Given the description of an element on the screen output the (x, y) to click on. 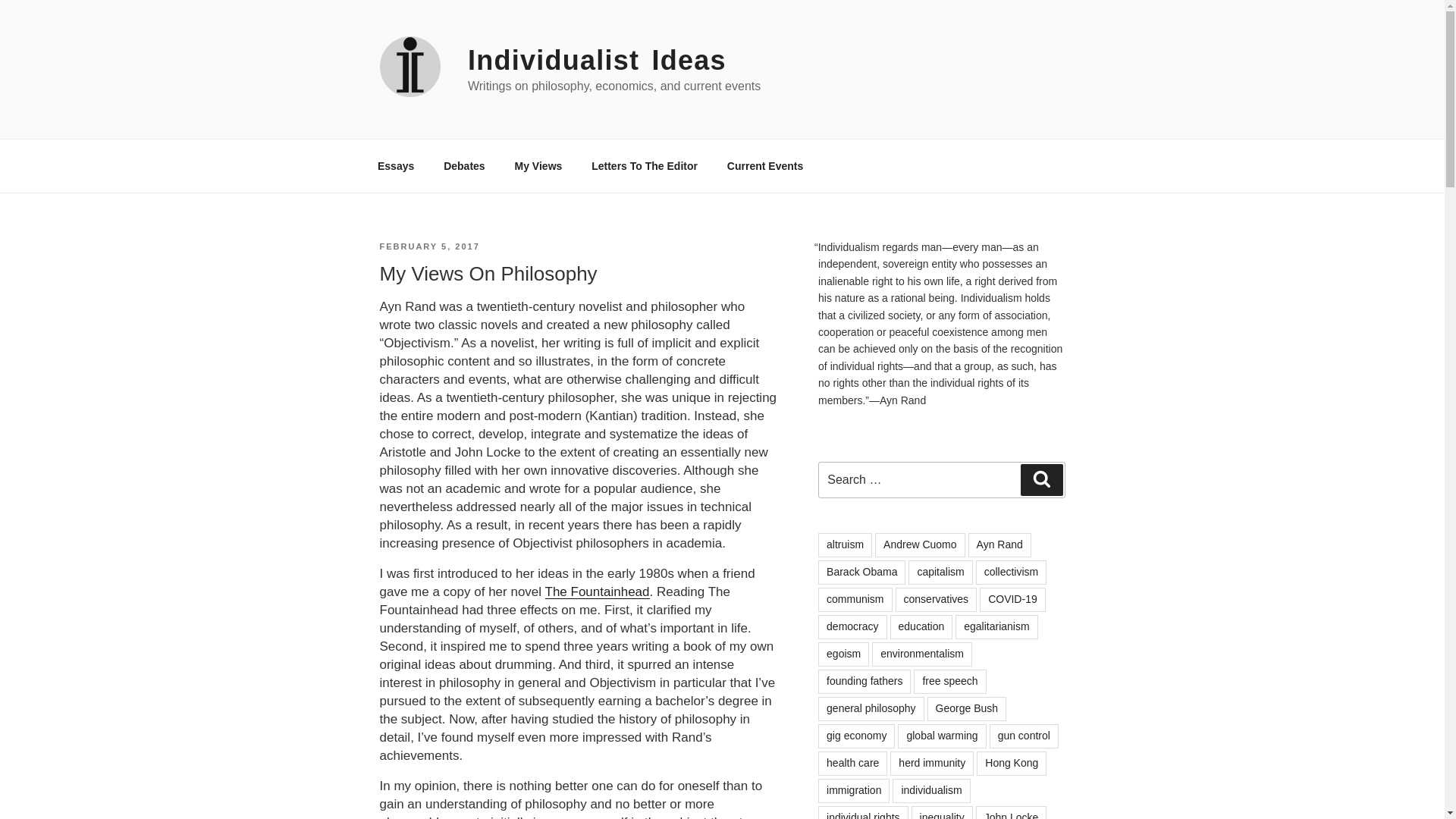
The Fountainhead (596, 590)
Individualist Ideas (596, 60)
Essays (395, 165)
FEBRUARY 5, 2017 (428, 245)
Current Events (764, 165)
Debates (463, 165)
Letters To The Editor (644, 165)
My Views (537, 165)
Search (1041, 480)
